Given the description of an element on the screen output the (x, y) to click on. 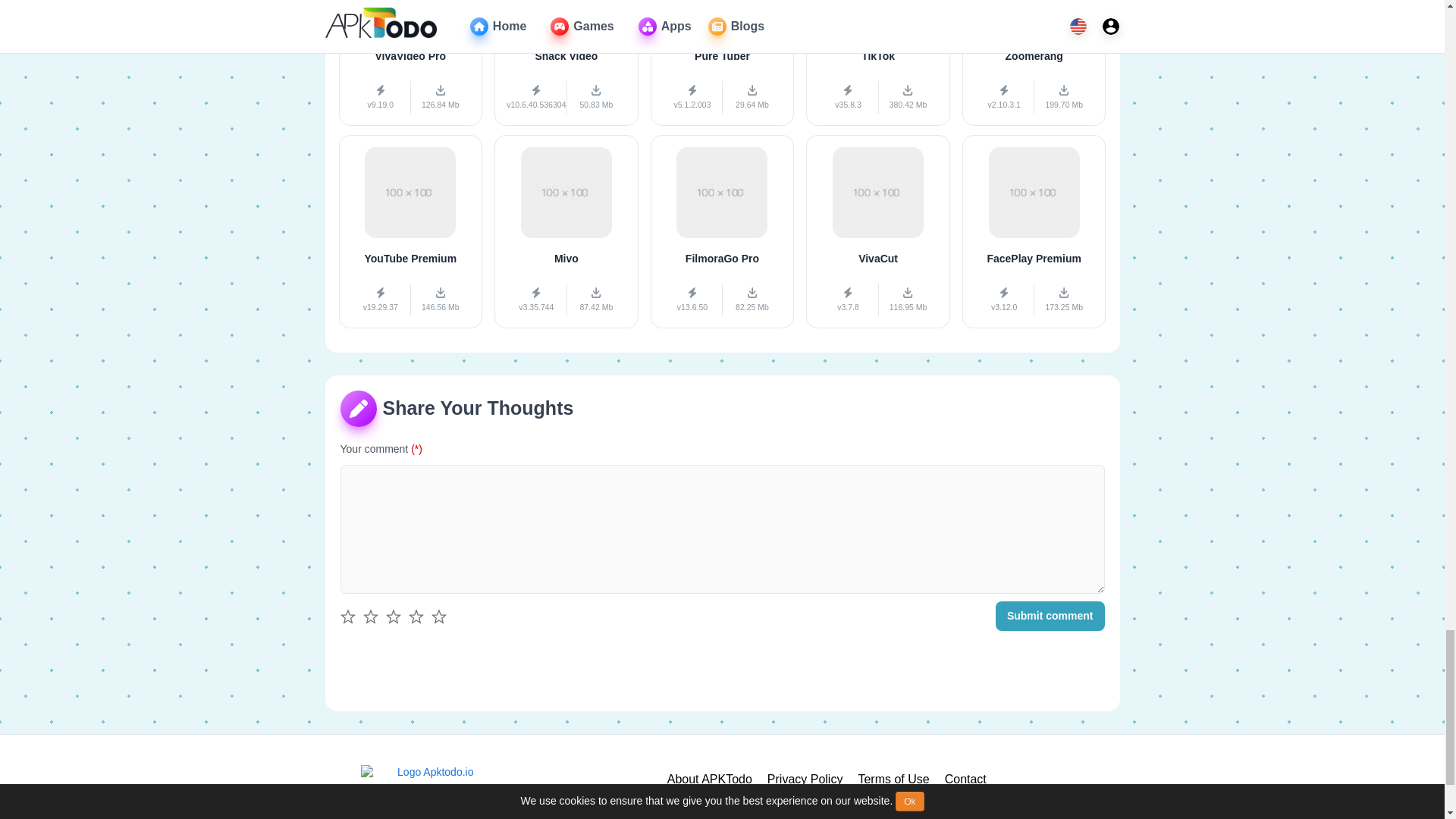
Contact (965, 780)
VivaVideo Pro (409, 63)
Snack Video (567, 63)
Pure Tuber (722, 63)
Privacy Policy (805, 780)
TikTok (878, 63)
YouTube Premium (409, 231)
About APKTodo (709, 780)
FacePlay Premium (1034, 231)
Zoomerang (1034, 63)
FilmoraGo Pro (722, 231)
VivaCut (878, 231)
Terms of Use (892, 780)
Mivo (567, 231)
